Given the description of an element on the screen output the (x, y) to click on. 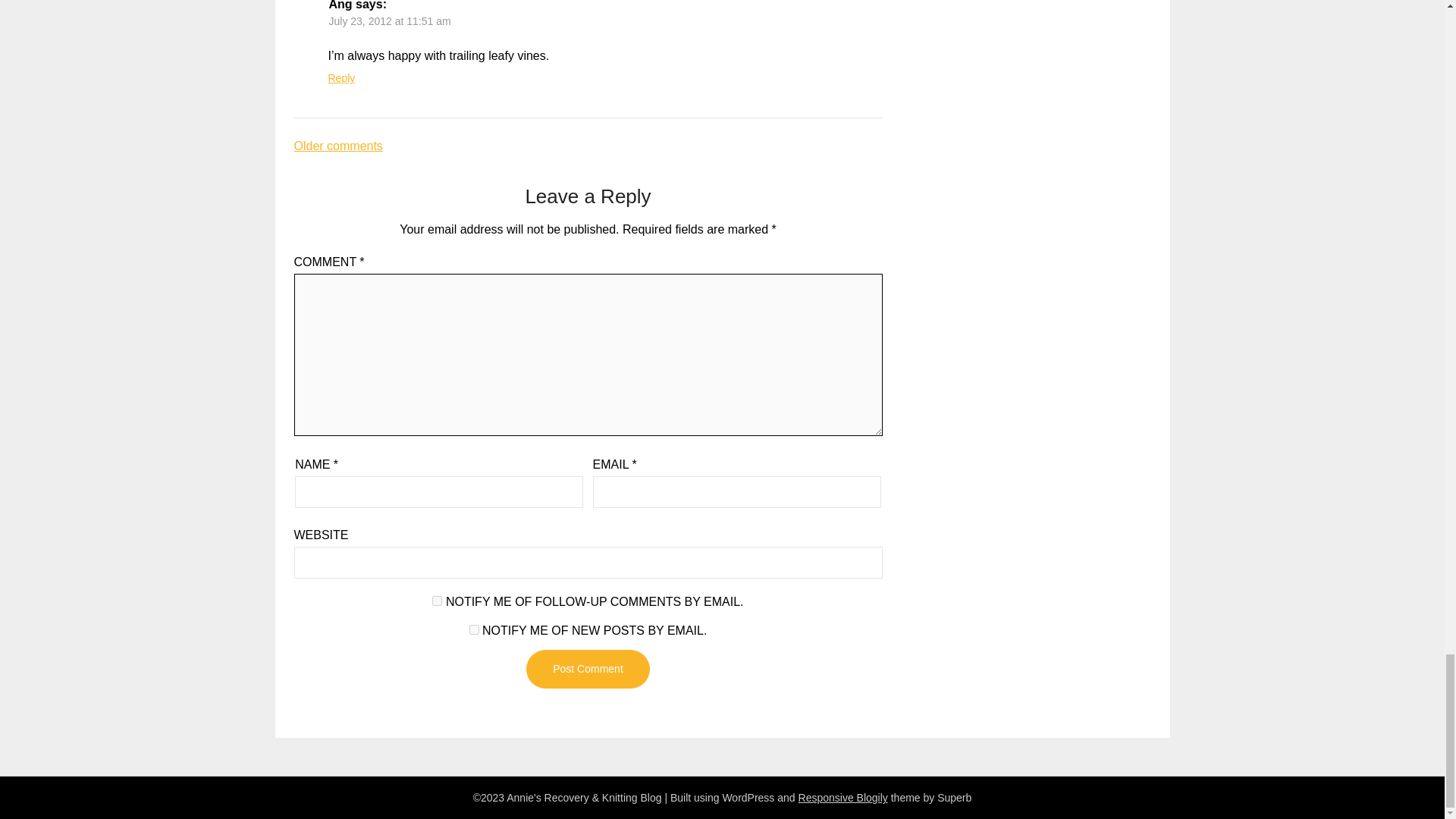
Older comments (338, 145)
subscribe (437, 601)
subscribe (473, 629)
Reply (341, 78)
July 23, 2012 at 11:51 am (390, 21)
Post Comment (587, 669)
Post Comment (587, 669)
